Given the description of an element on the screen output the (x, y) to click on. 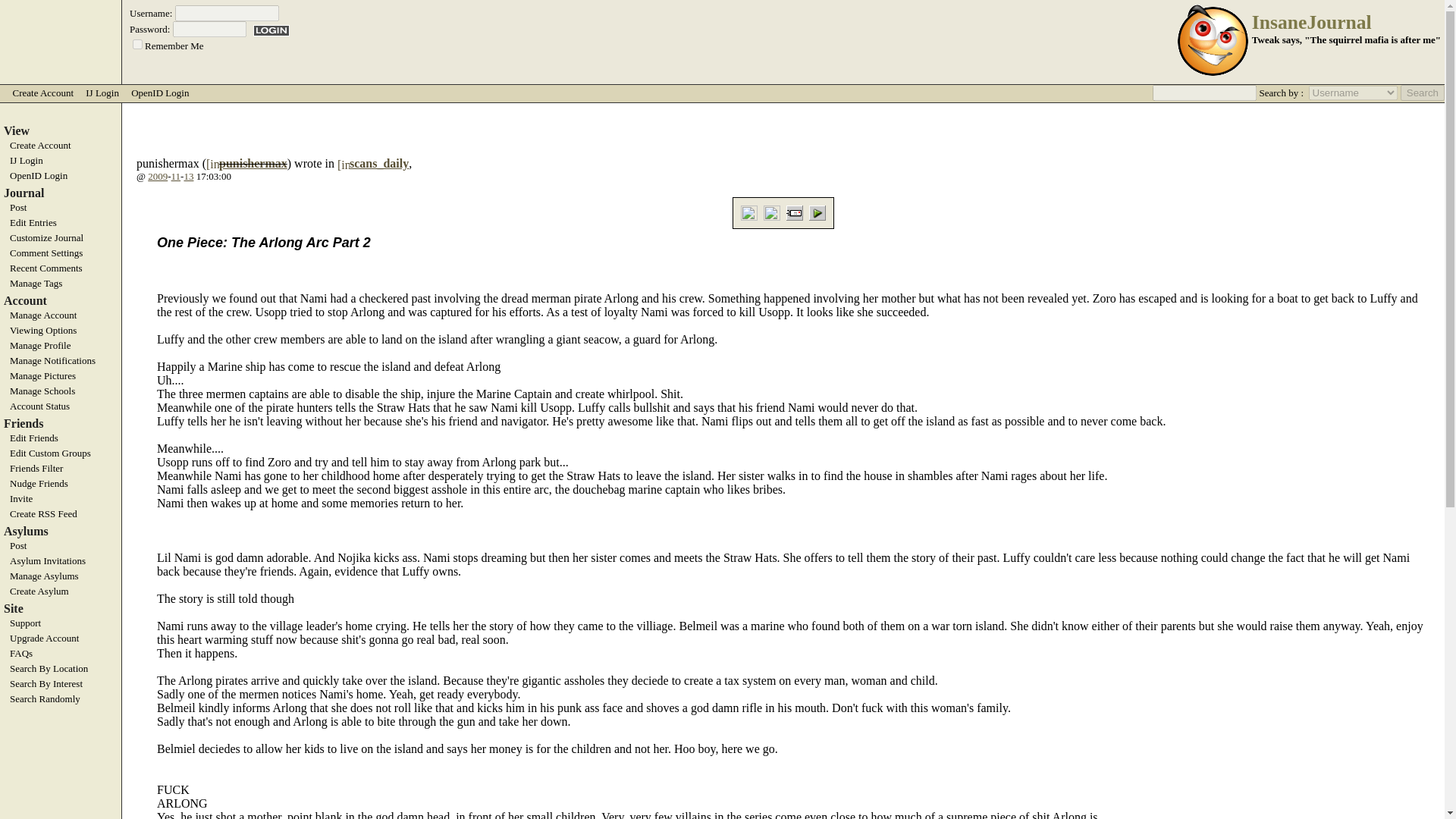
Manage Profile (60, 345)
Post (60, 207)
Create RSS Feed (60, 513)
Search By Interest (60, 684)
Tell a Friend! (794, 212)
Recent Comments (60, 268)
InsaneJournal (1311, 22)
Support (60, 623)
Search Randomly (60, 698)
Create Account (42, 93)
IJ Login (60, 160)
Tweak says, "The squirrel mafia is after me" (1346, 39)
Asylum Invitations (60, 561)
Manage Account (60, 315)
Add to memories! (771, 212)
